Given the description of an element on the screen output the (x, y) to click on. 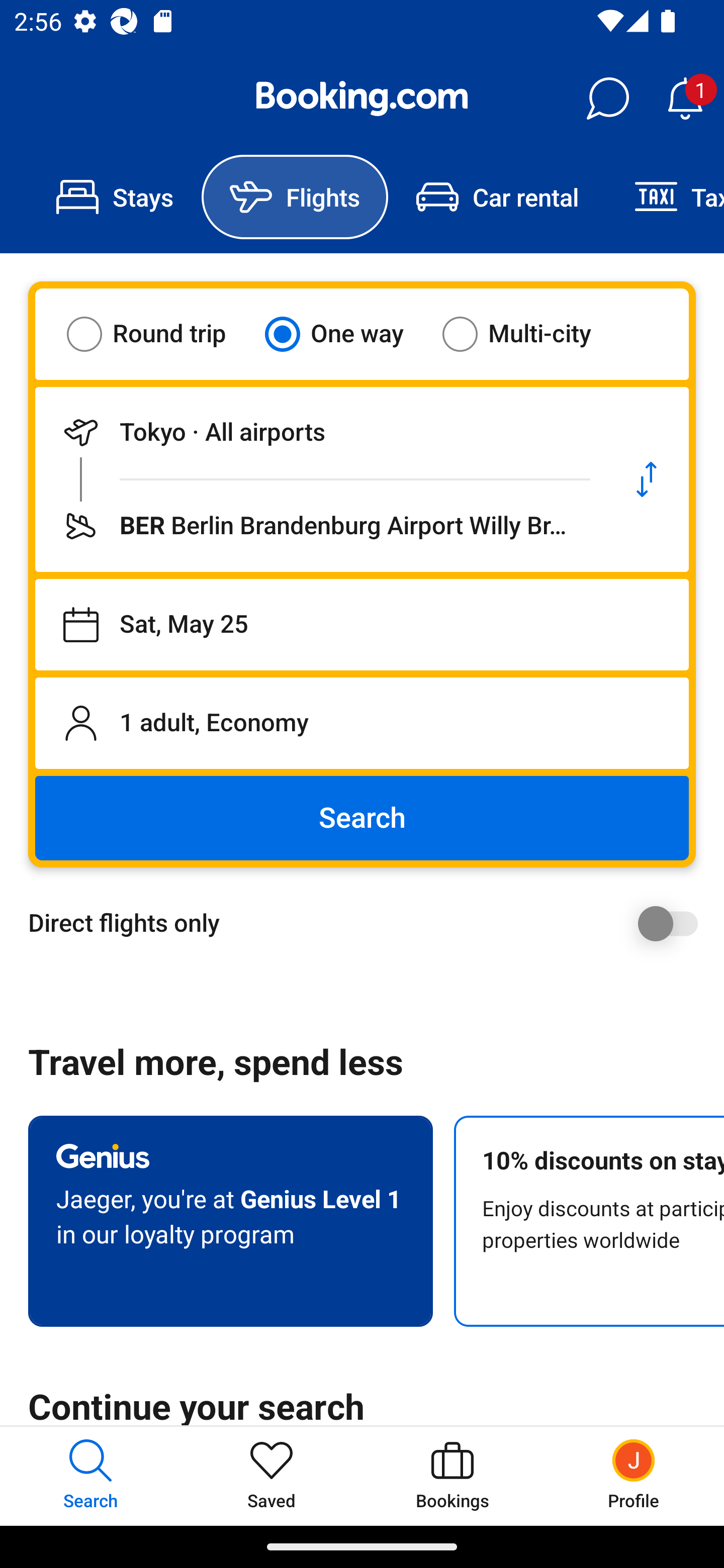
Messages (607, 98)
Notifications (685, 98)
Stays (114, 197)
Flights (294, 197)
Car rental (497, 197)
Taxi (665, 197)
Round trip (158, 333)
Multi-city (528, 333)
Departing from Tokyo · All airports (319, 432)
Swap departure location and destination (646, 479)
Departing on Sat, May 25 (361, 624)
1 adult, Economy (361, 722)
Search (361, 818)
Direct flights only (369, 923)
Saved (271, 1475)
Bookings (452, 1475)
Profile (633, 1475)
